Given the description of an element on the screen output the (x, y) to click on. 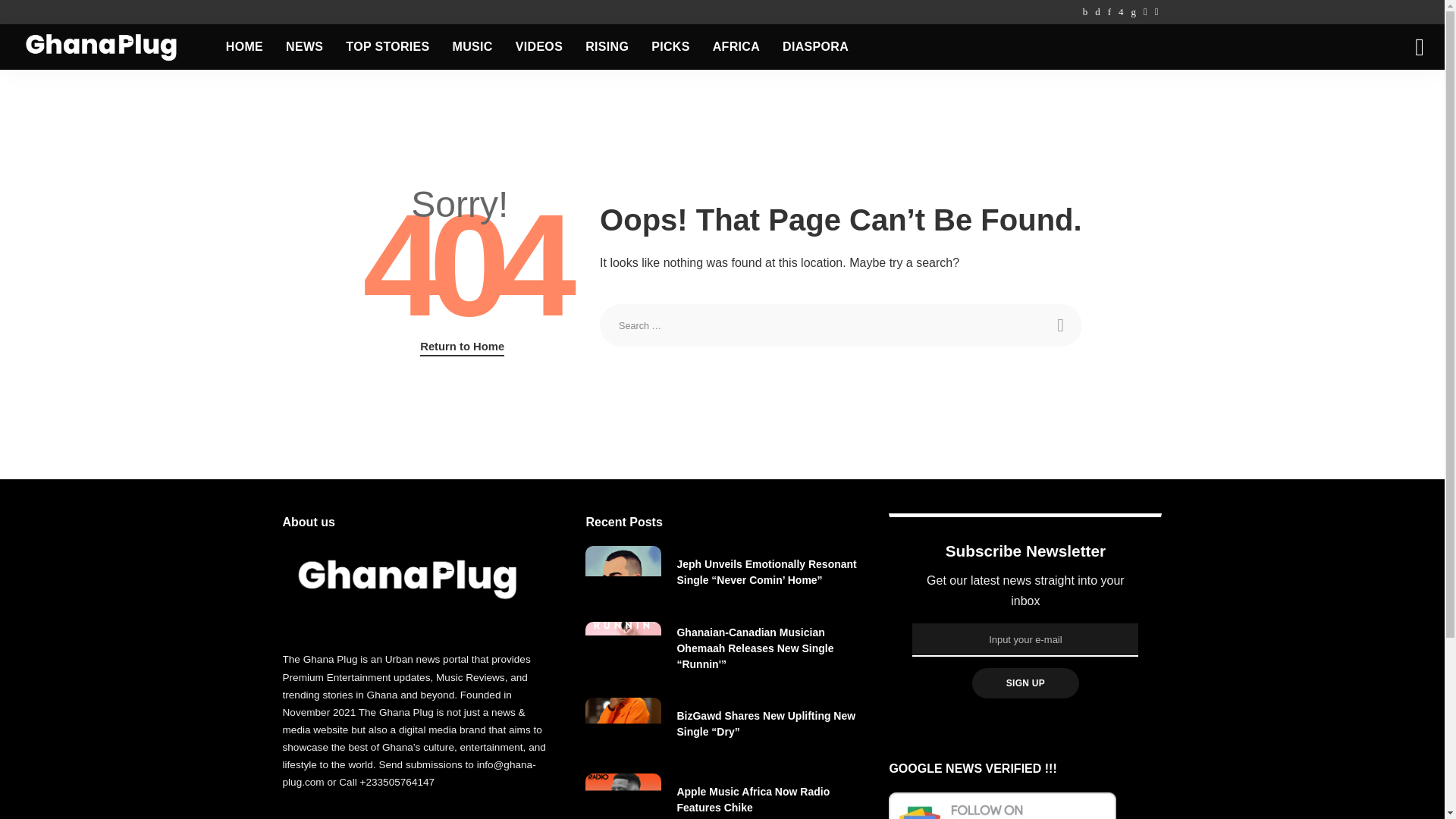
Search (1060, 324)
Search (1060, 324)
HOME (244, 46)
